Given the description of an element on the screen output the (x, y) to click on. 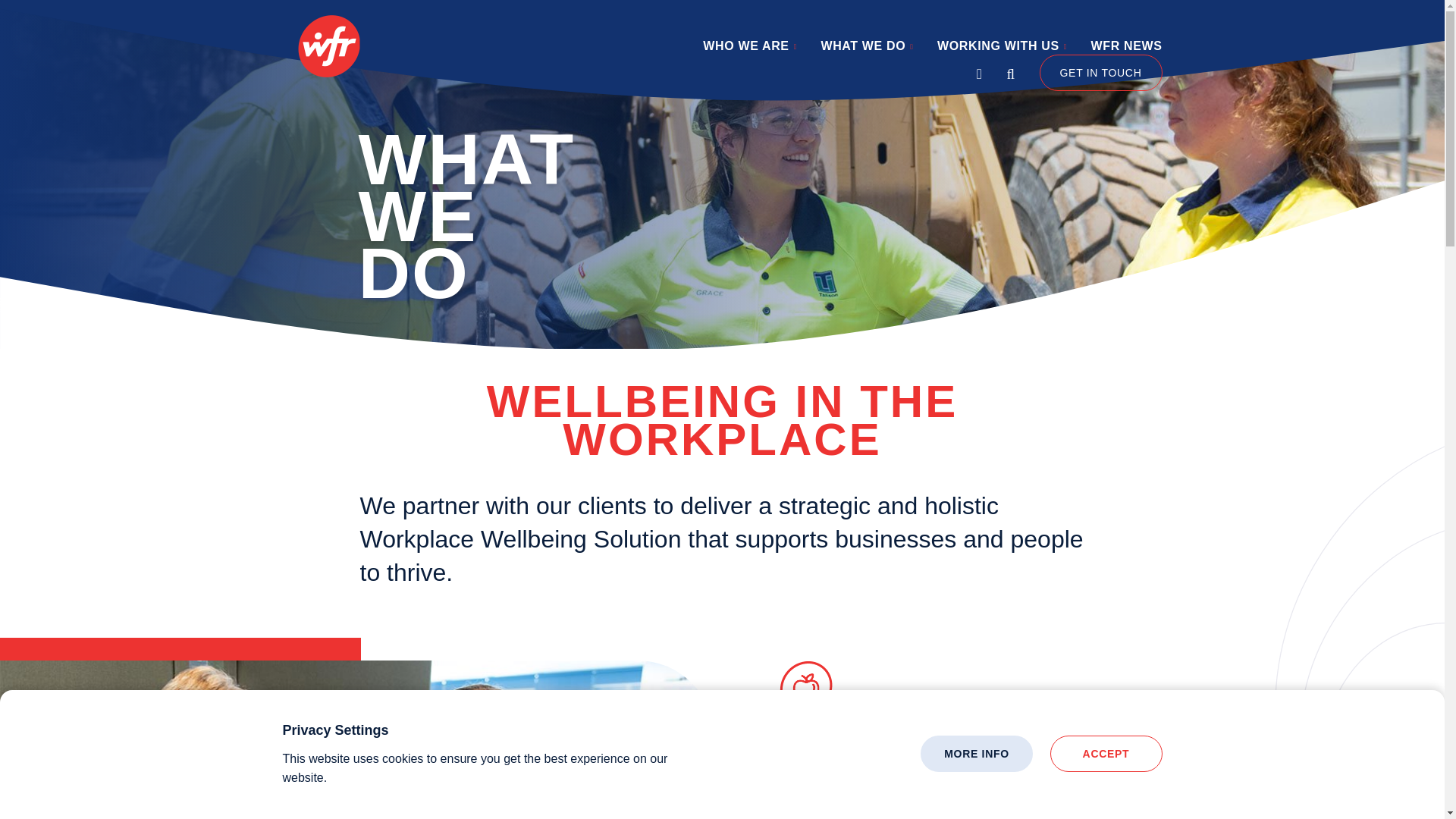
WHAT WE DO (866, 53)
WORKING WITH US (1002, 53)
WHO WE ARE (749, 53)
GET IN TOUCH (1100, 72)
WFR NEWS (1125, 53)
